Given the description of an element on the screen output the (x, y) to click on. 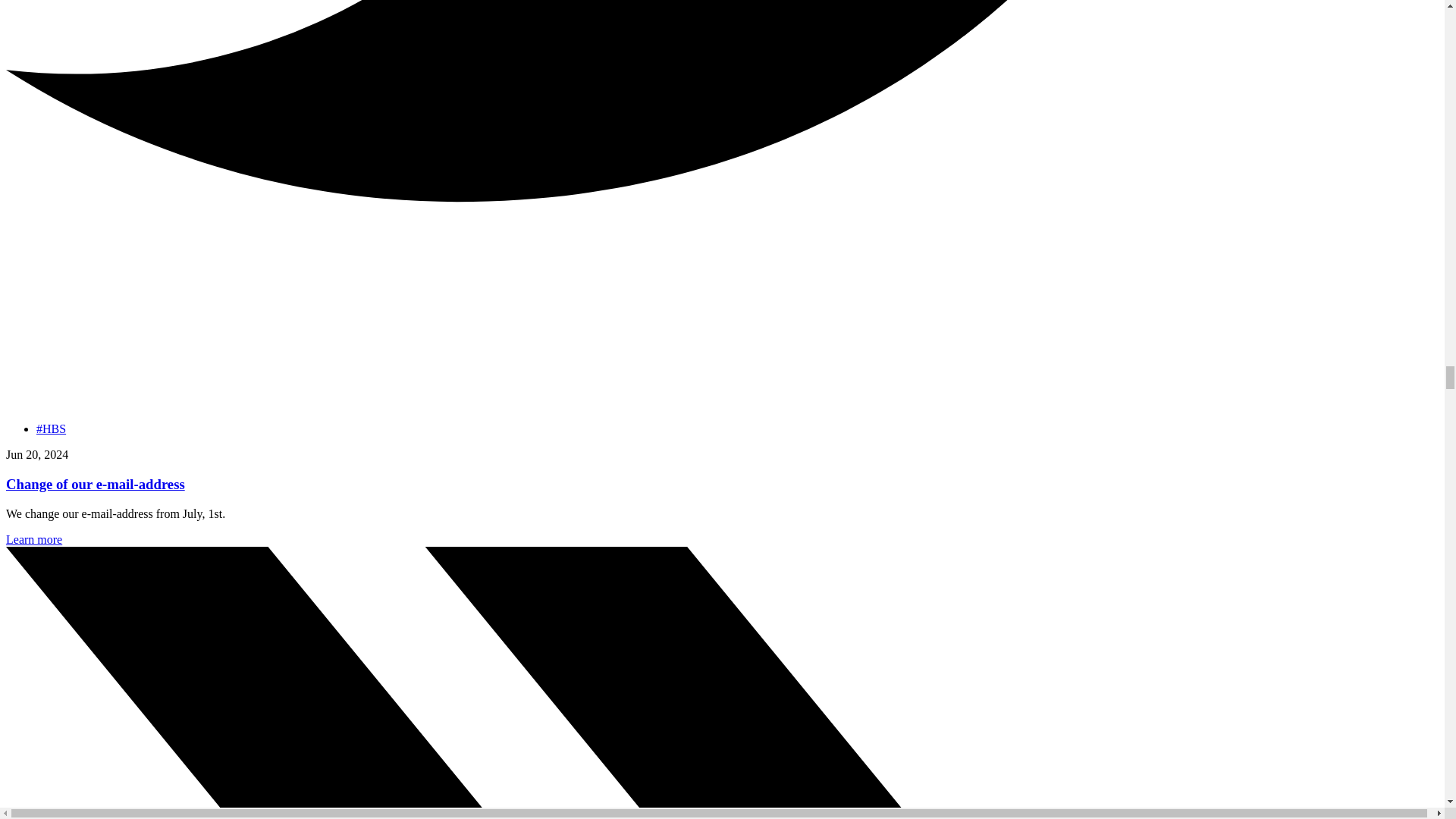
Signatur neue Mailadresse Blogpost (66, 373)
Change of our e-mail-address (94, 483)
